Given the description of an element on the screen output the (x, y) to click on. 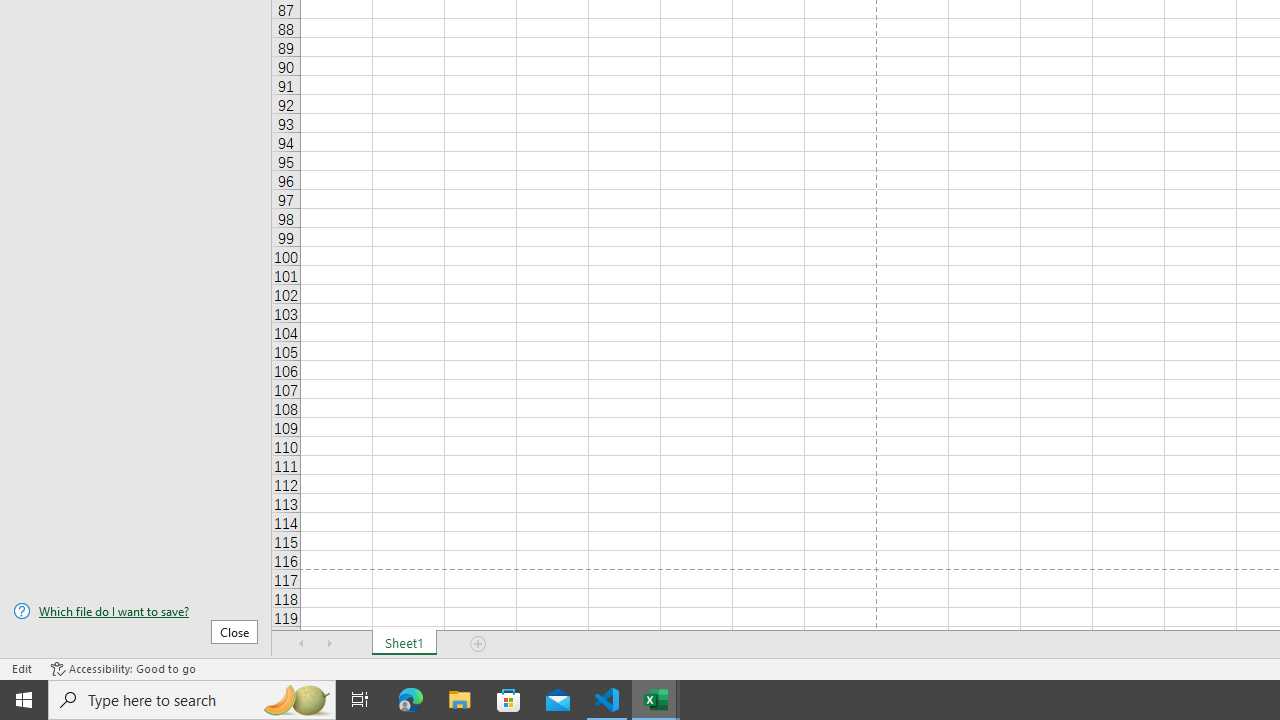
Which file do I want to save? (136, 611)
Accessibility Checker Accessibility: Good to go (123, 668)
Scroll Left (302, 644)
Scroll Right (330, 644)
Close (234, 631)
Sheet1 (404, 644)
Add Sheet (478, 644)
